Given the description of an element on the screen output the (x, y) to click on. 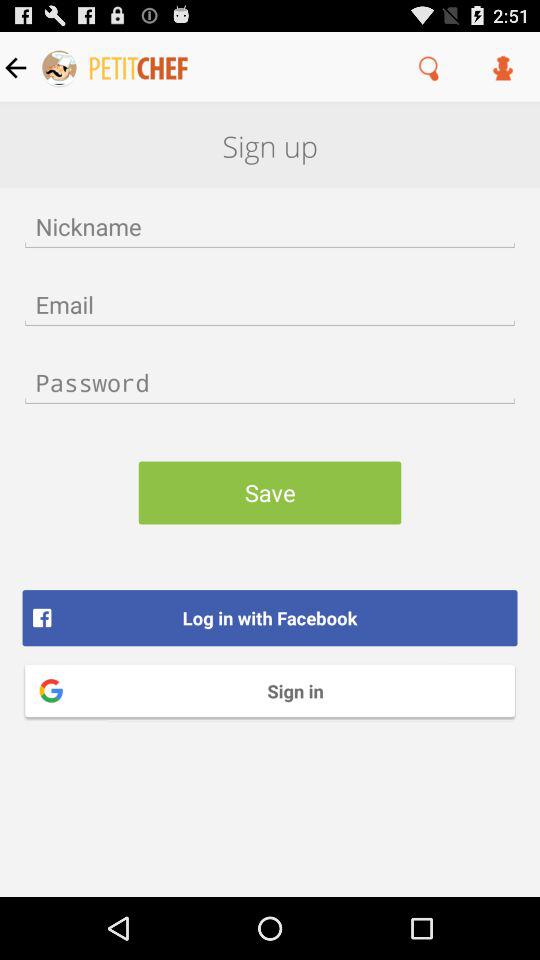
select the icon at the bottom (269, 690)
